Given the description of an element on the screen output the (x, y) to click on. 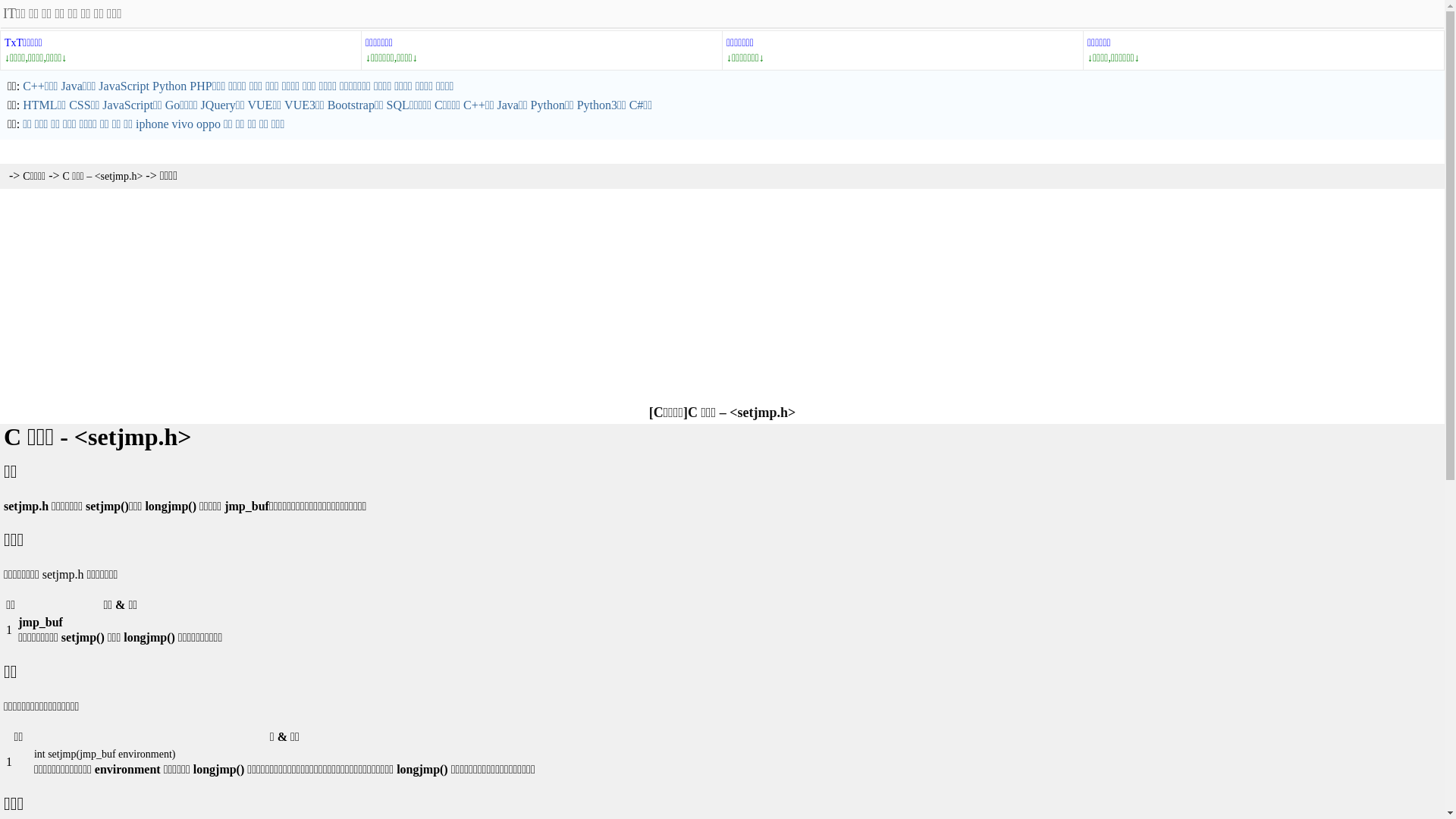
vivo Element type: text (182, 123)
Python Element type: text (169, 85)
int setjmp(jmp_buf environment) Element type: text (104, 753)
iphone Element type: text (152, 123)
JavaScript Element type: text (123, 85)
Advertisement Element type: hover (721, 294)
oppo Element type: text (208, 123)
